Given the description of an element on the screen output the (x, y) to click on. 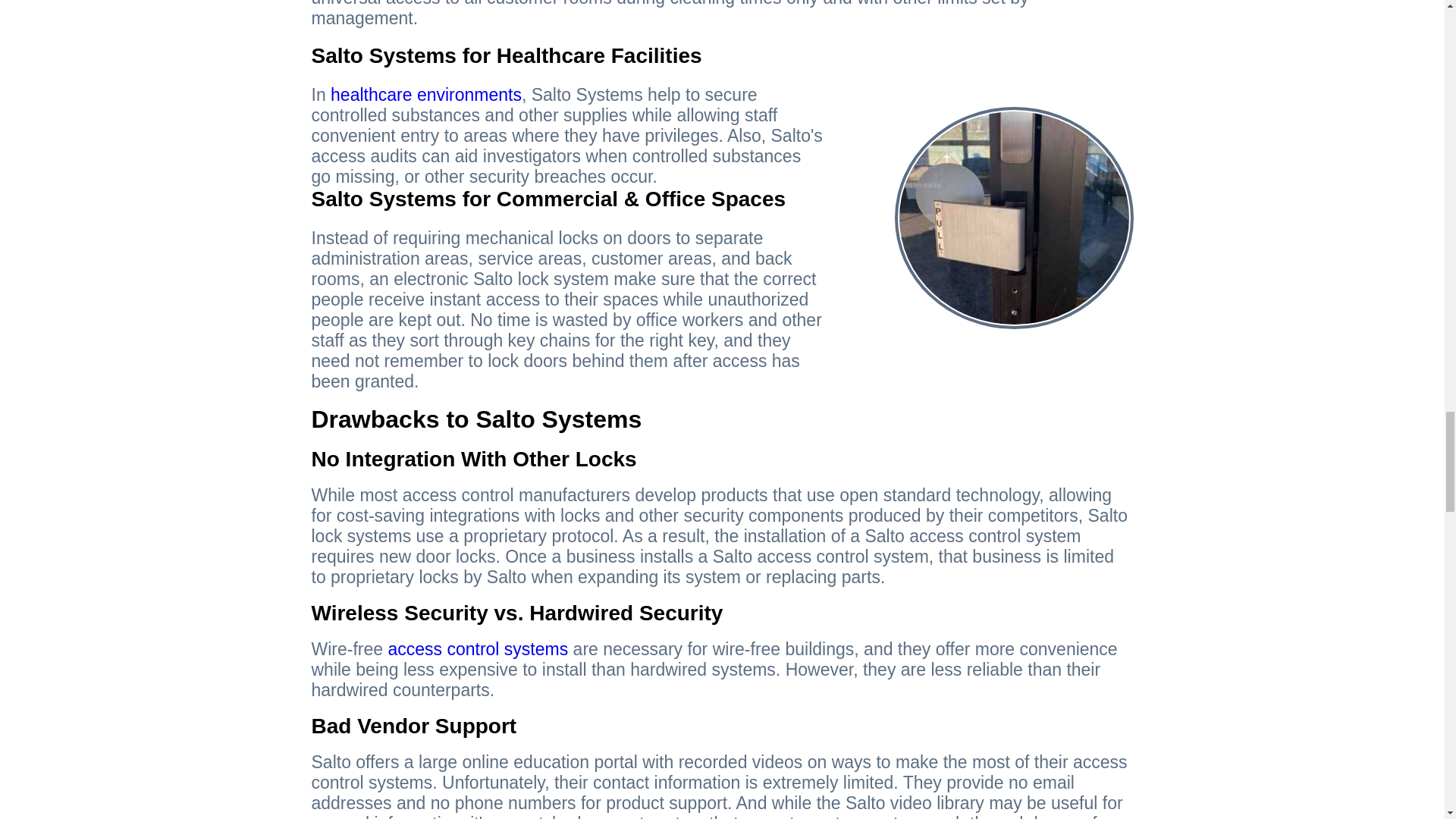
salto-system-image (1014, 218)
